Given the description of an element on the screen output the (x, y) to click on. 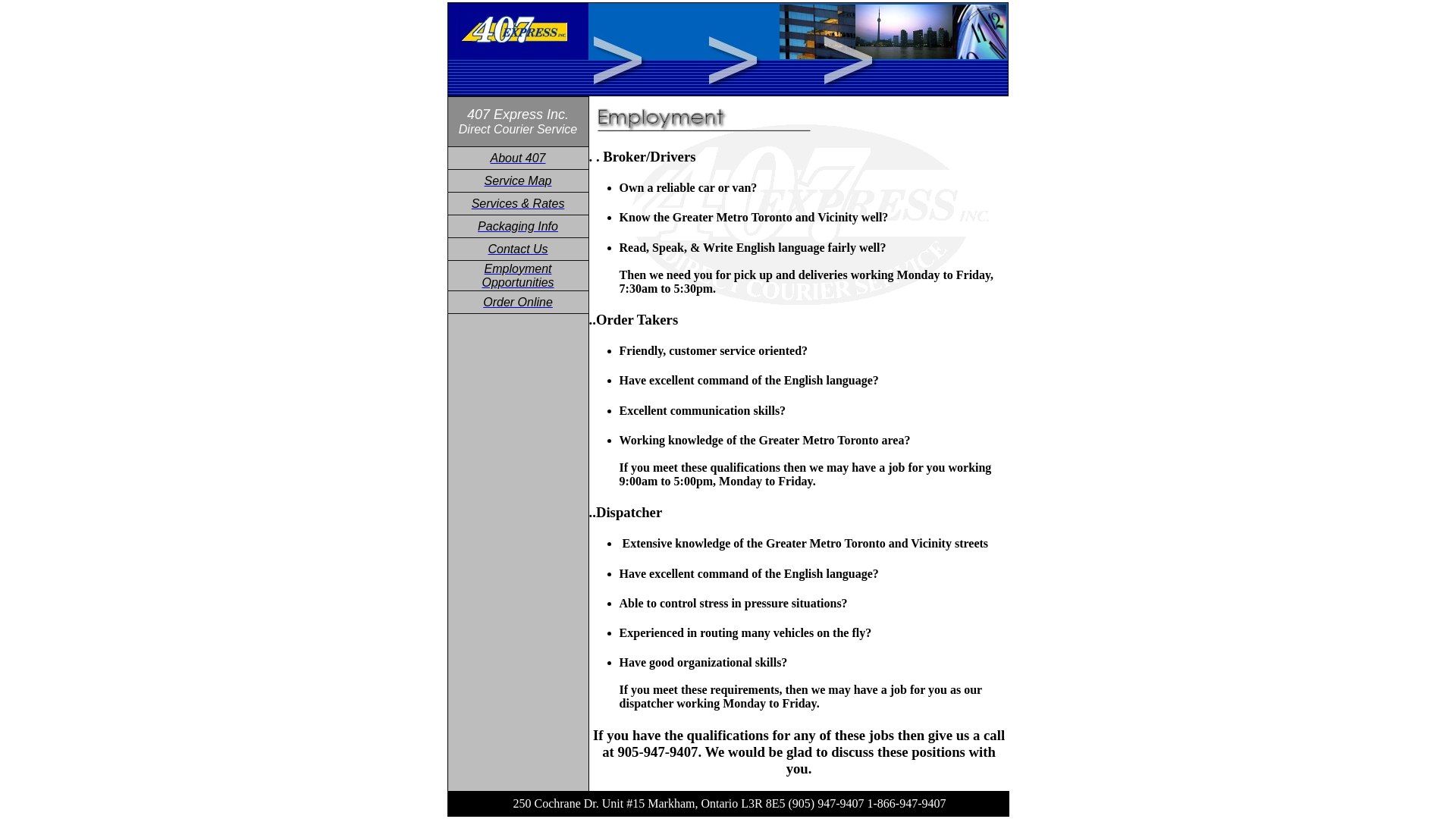
407 Express Inc.
Direct Courier Service Element type: text (517, 121)
Services & Rates Element type: text (517, 203)
Contact Us Element type: text (517, 248)
Employment Opportunities Element type: text (517, 275)
Packaging Info Element type: text (517, 225)
About 407 Element type: text (518, 157)
Service Map Element type: text (518, 180)
Order Online Element type: text (517, 301)
